Given the description of an element on the screen output the (x, y) to click on. 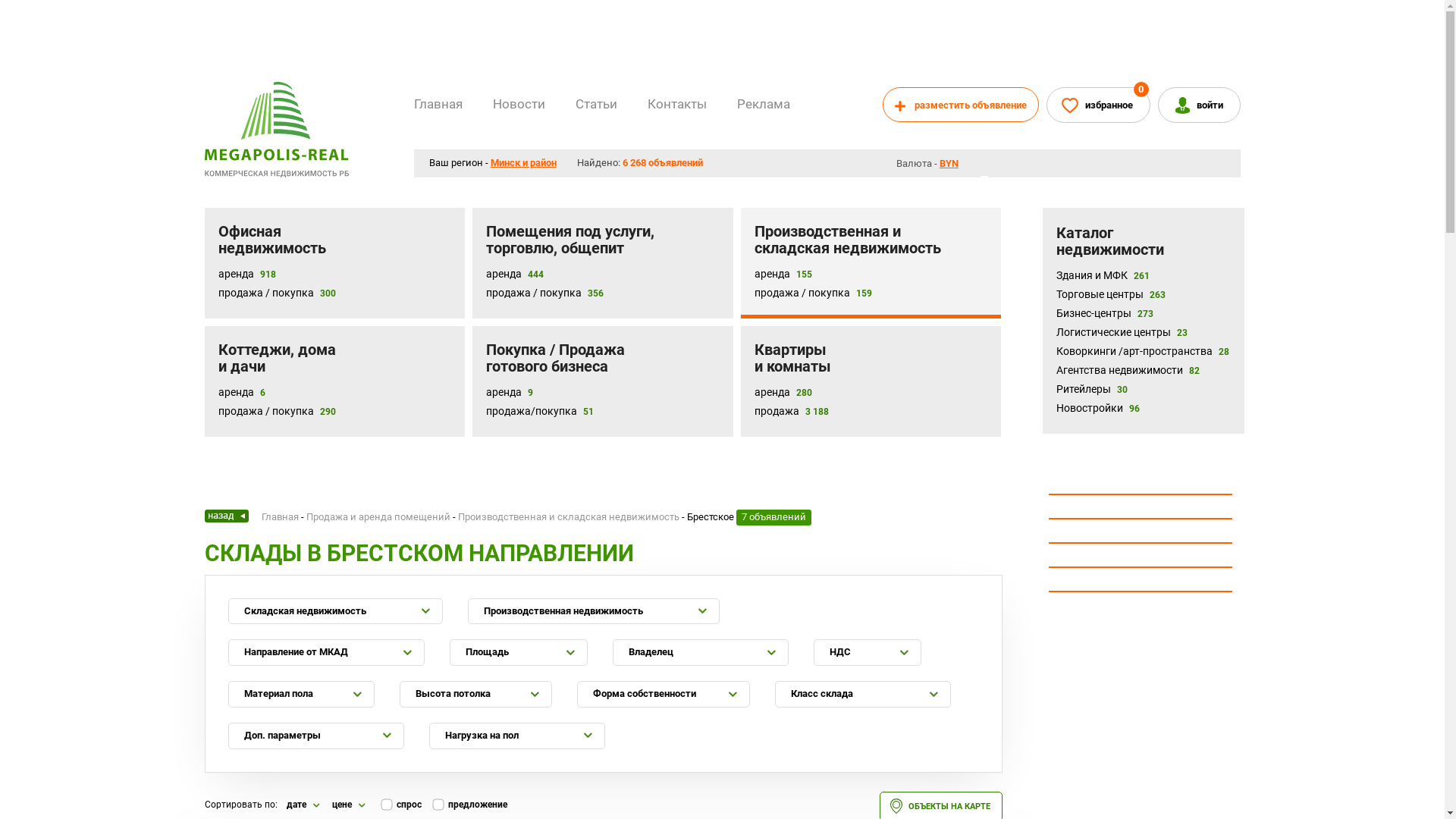
BYN Element type: text (953, 163)
